Given the description of an element on the screen output the (x, y) to click on. 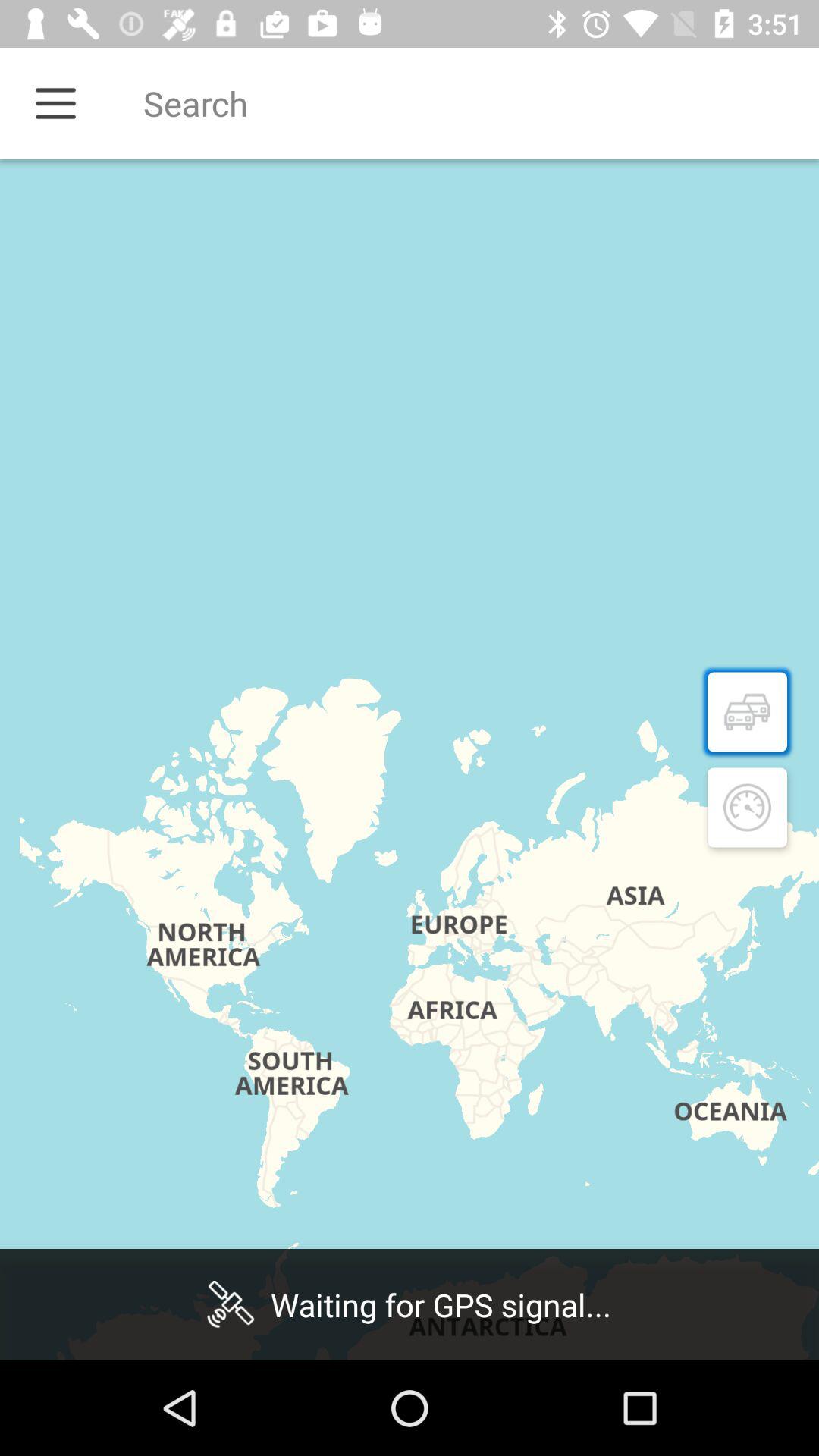
menu button (55, 103)
